Given the description of an element on the screen output the (x, y) to click on. 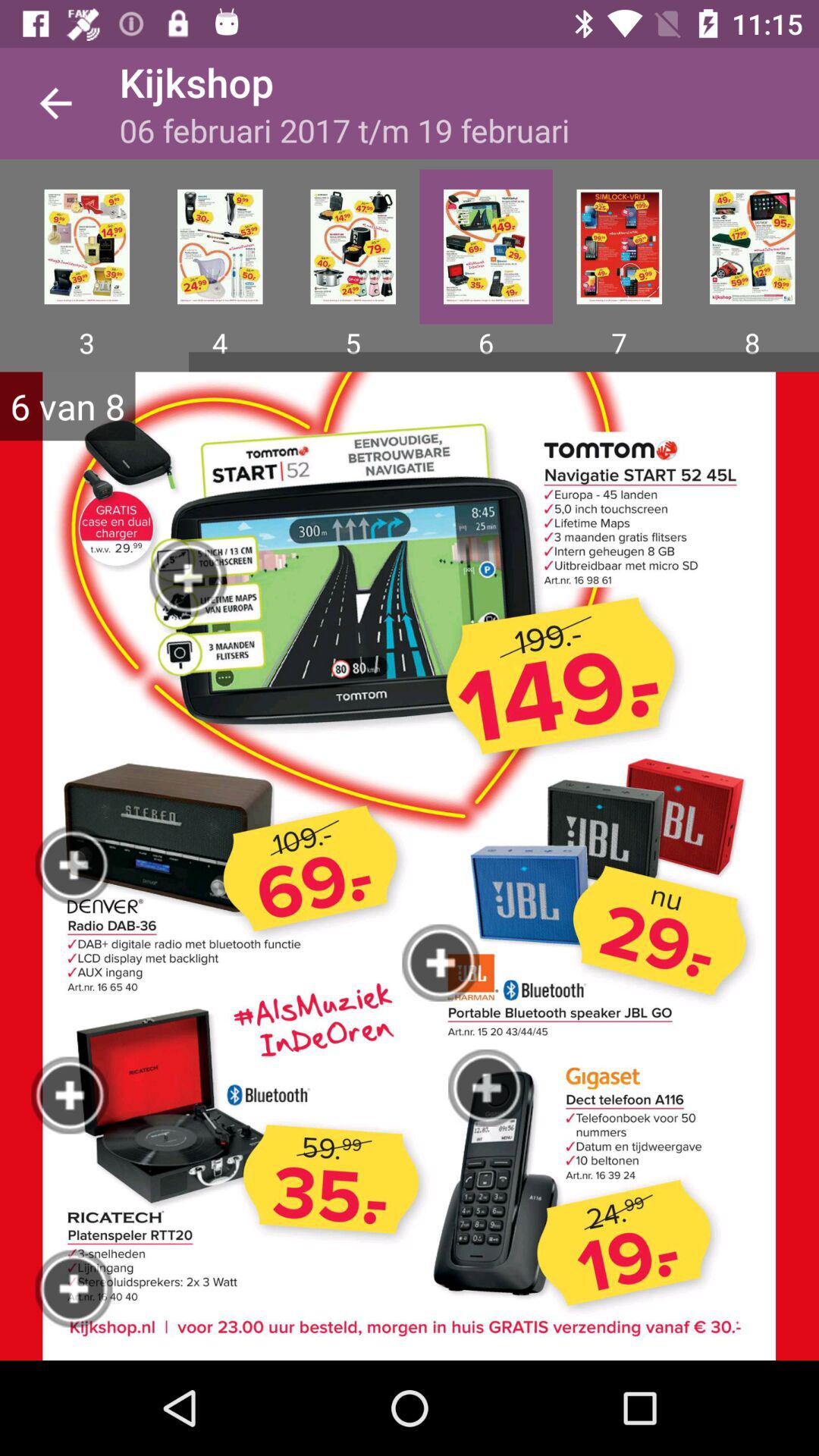
tap on the image which is above 3 (86, 247)
